Given the description of an element on the screen output the (x, y) to click on. 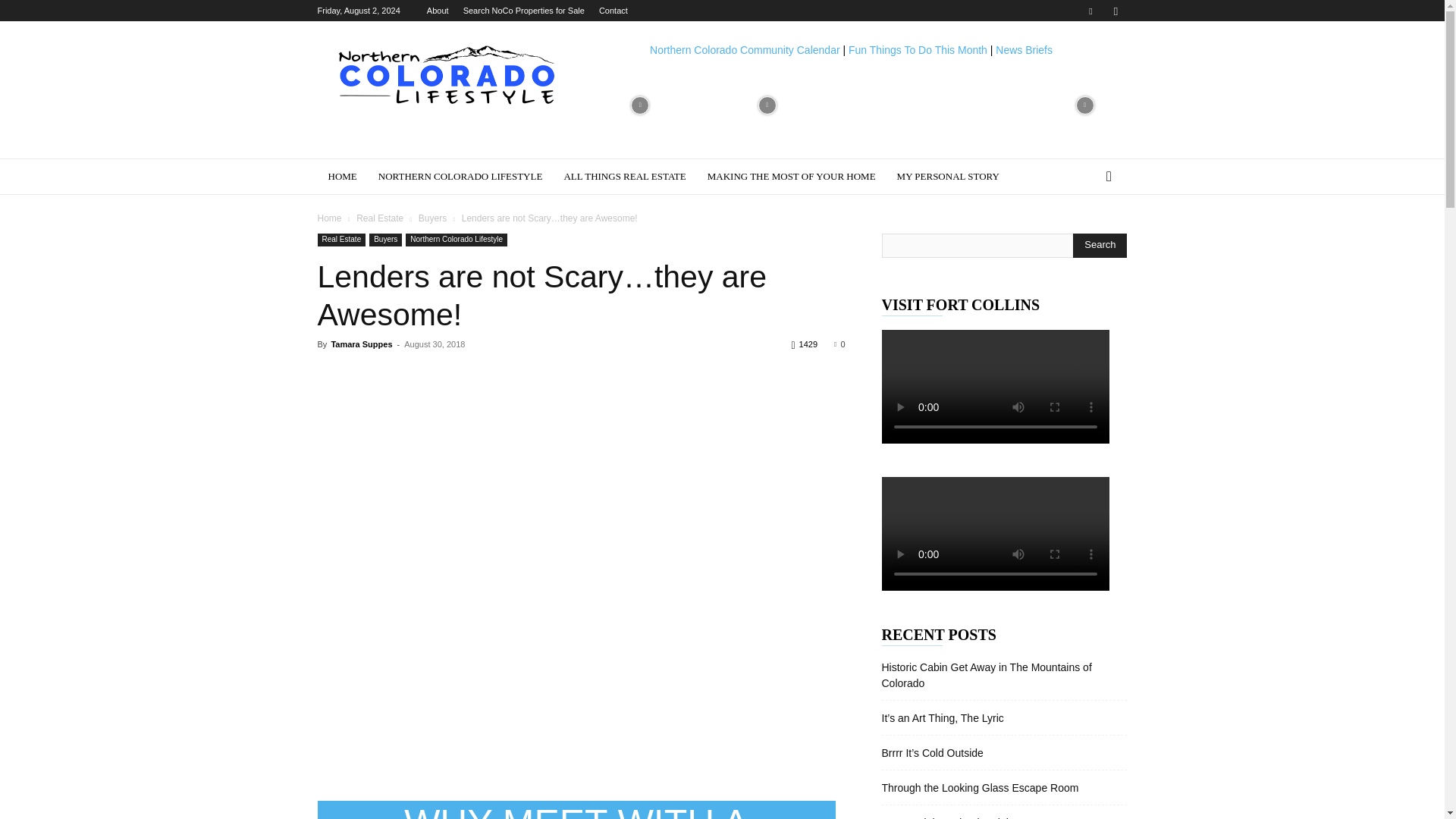
Search (1099, 245)
News Briefs (1023, 50)
Instagram (1114, 10)
About (437, 10)
Northern Colorado Community Calendar (744, 50)
Search NoCo Properties for Sale (524, 10)
Fun Things To Do This Month (917, 50)
Facebook (1090, 10)
Contact (612, 10)
